Given the description of an element on the screen output the (x, y) to click on. 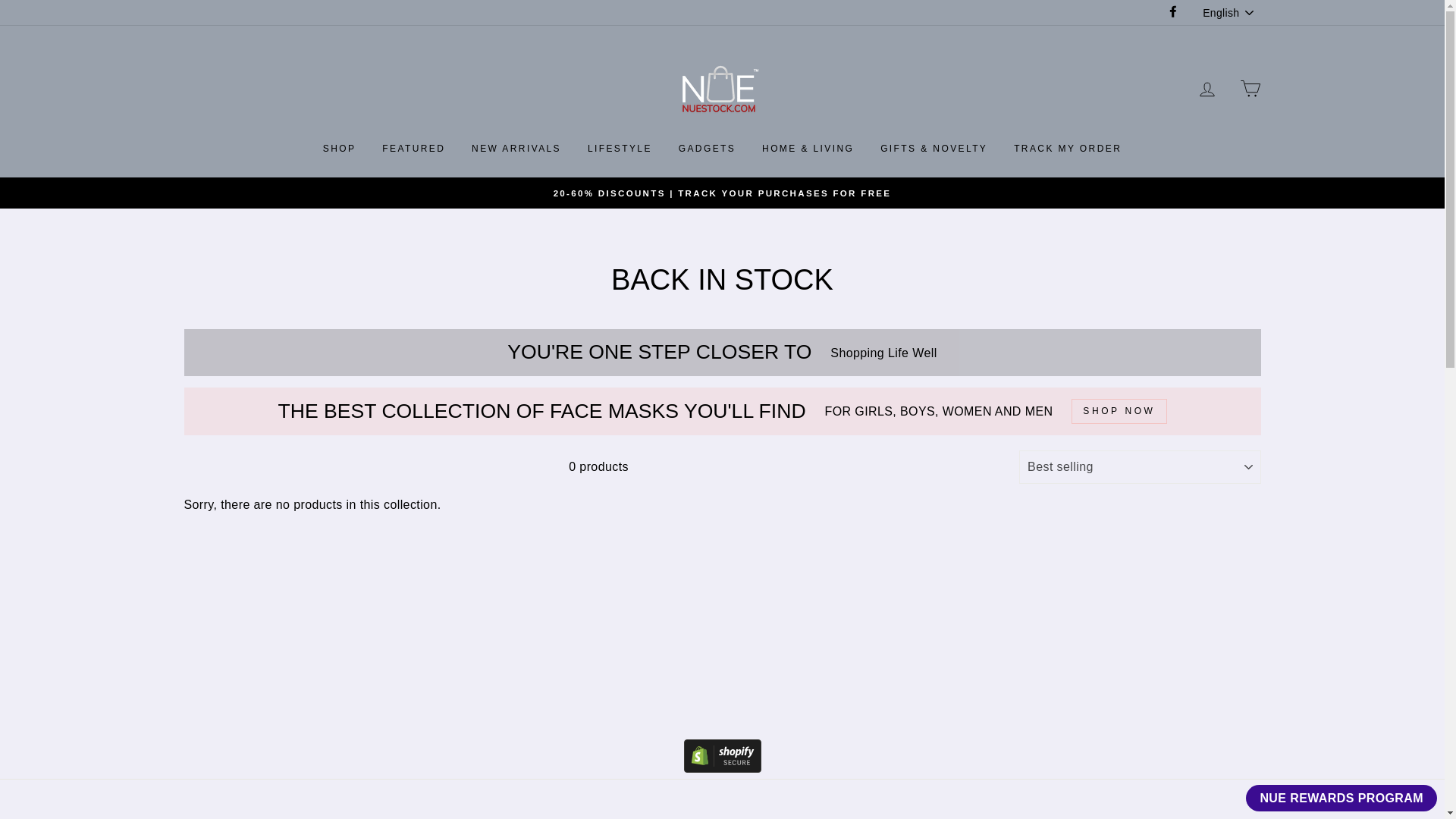
This online store is secured by Shopify (722, 768)
